Given the description of an element on the screen output the (x, y) to click on. 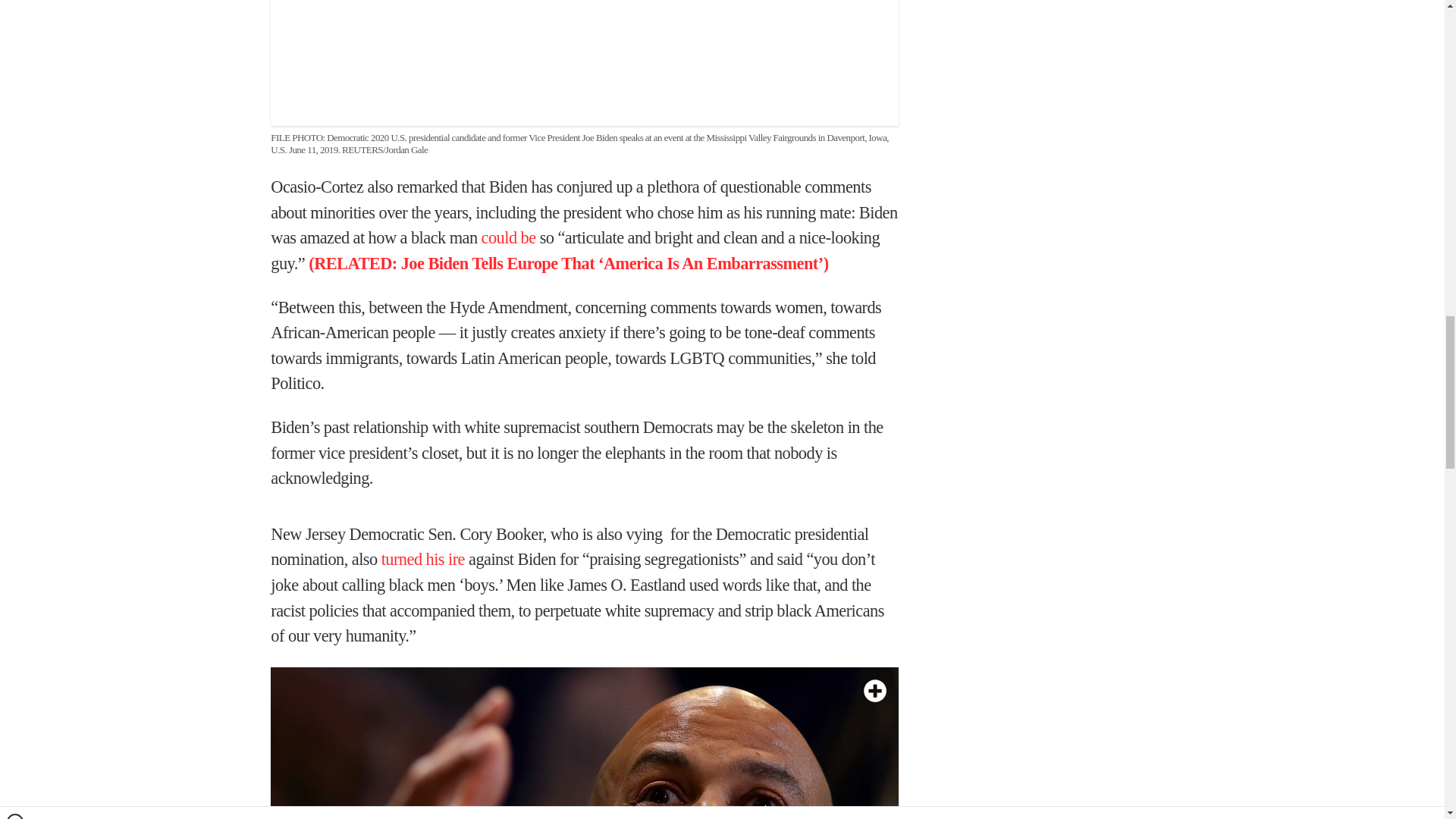
could be (508, 237)
